Given the description of an element on the screen output the (x, y) to click on. 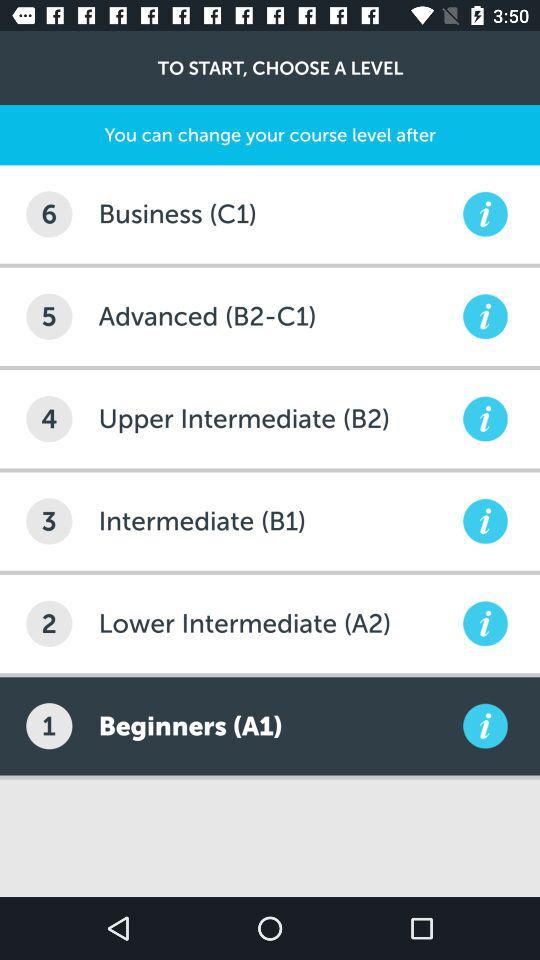
turn off the icon next to the 5 icon (277, 316)
